Given the description of an element on the screen output the (x, y) to click on. 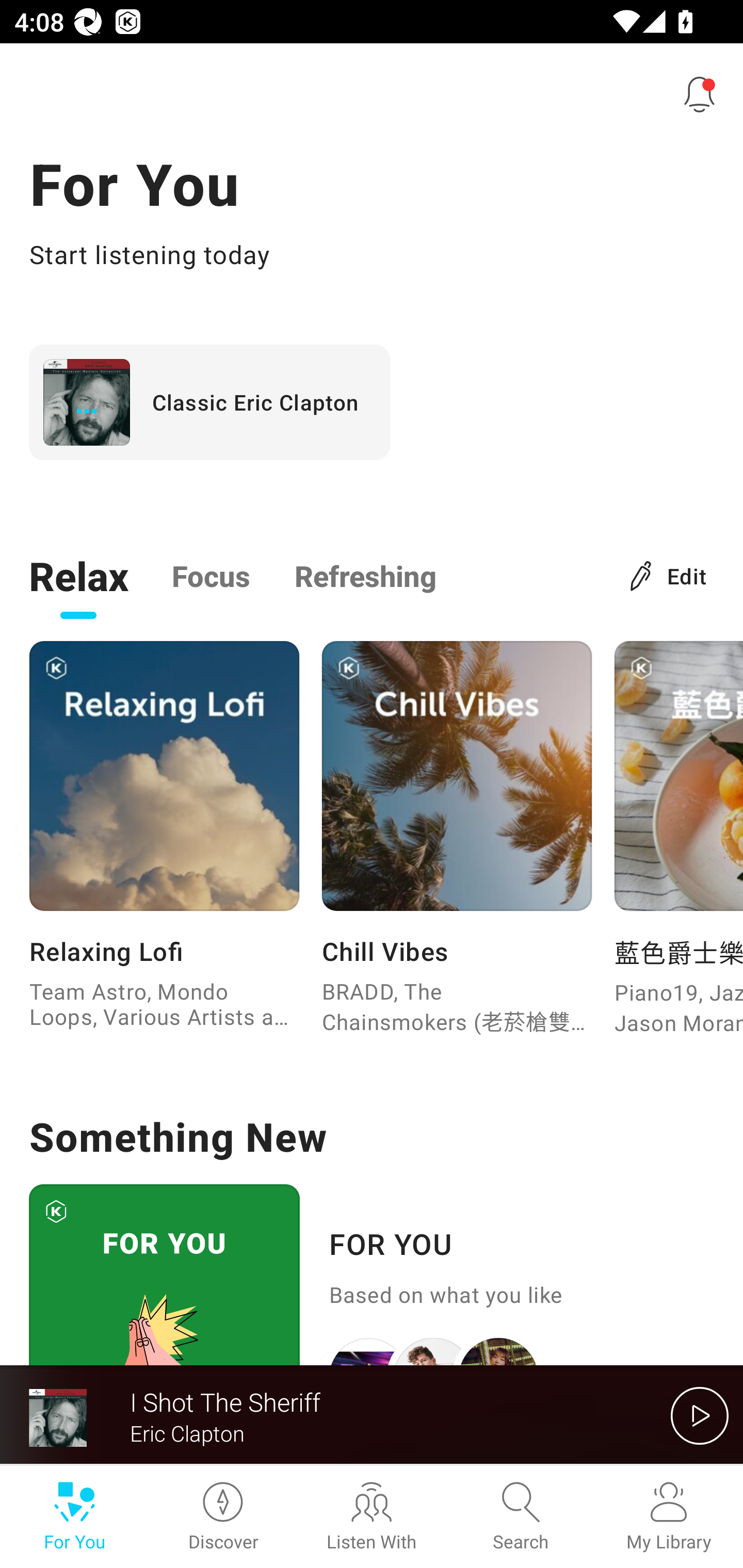
Notification (699, 93)
view_image Classic Eric Clapton (209, 401)
Focus (211, 575)
Refreshing (365, 575)
Edit (668, 575)
開始播放 (699, 1415)
For You (74, 1517)
Discover (222, 1517)
Listen With (371, 1517)
Search (519, 1517)
My Library (668, 1517)
